Given the description of an element on the screen output the (x, y) to click on. 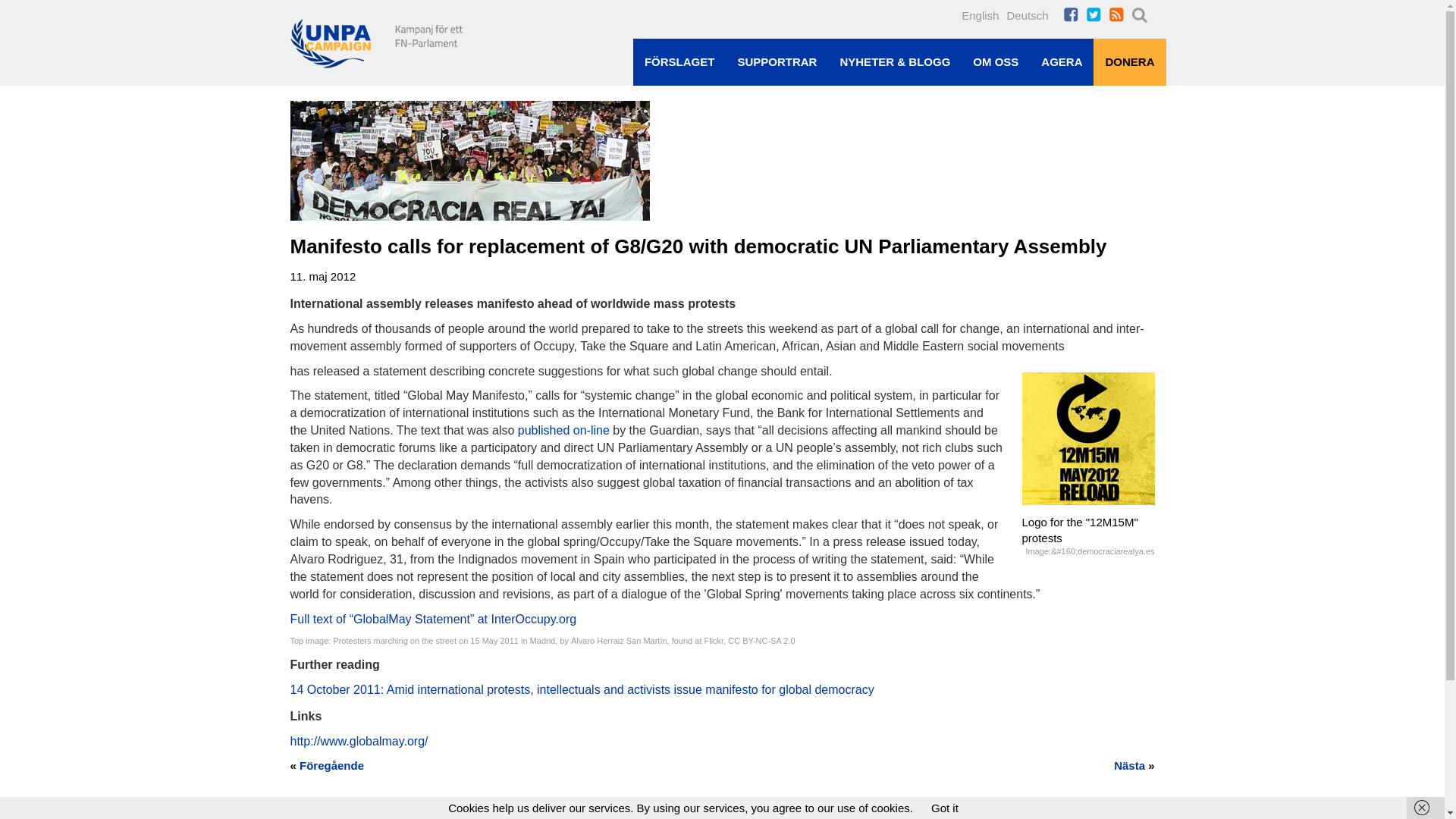
DONERA (1129, 61)
TW (1097, 15)
Deutsch (1027, 11)
English (979, 11)
FB (1074, 15)
OM OSS (994, 61)
published on-line (564, 430)
AGERA (1061, 61)
SUPPORTRAR (776, 61)
